Given the description of an element on the screen output the (x, y) to click on. 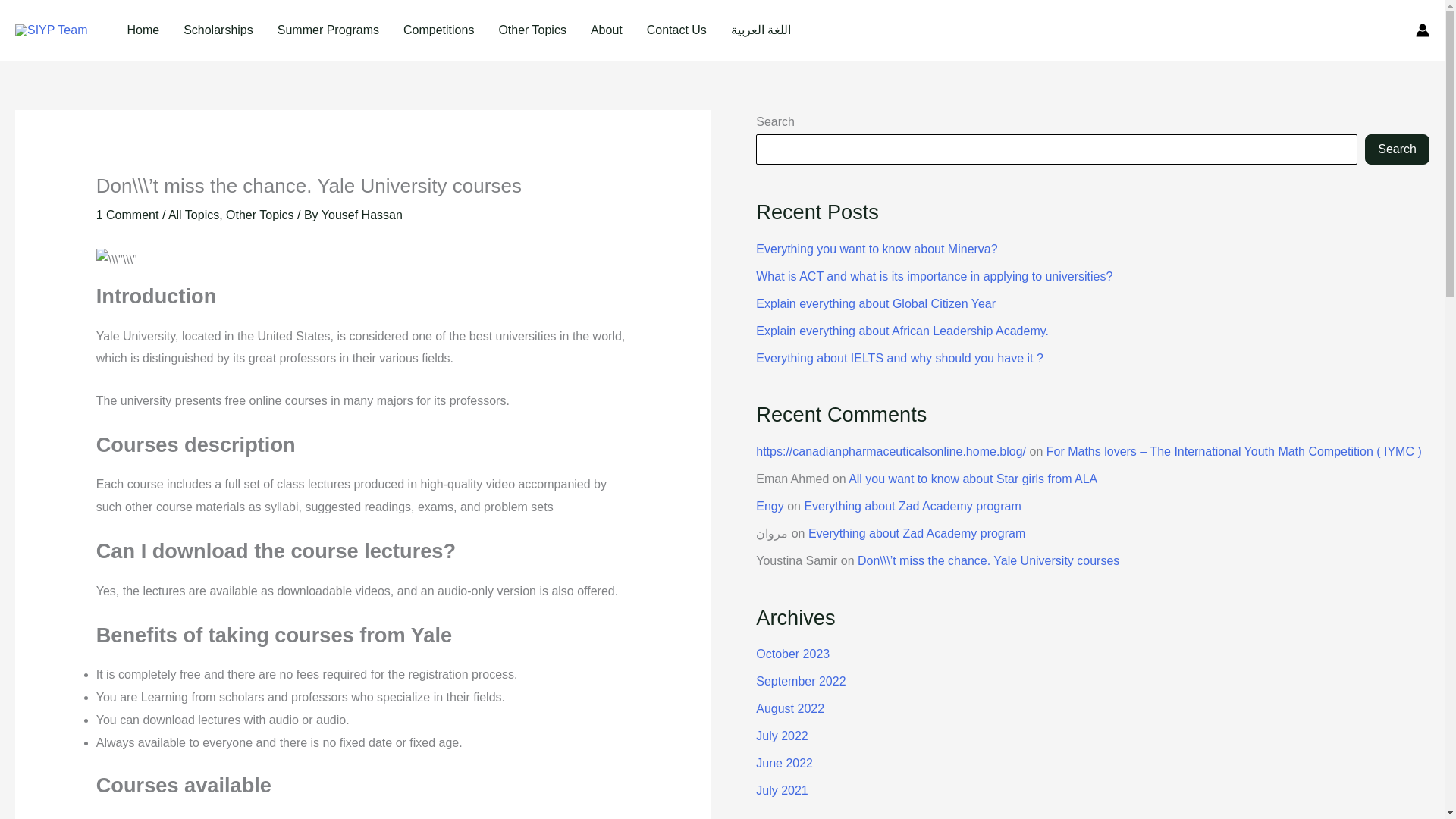
View all posts by Yousef Hassan (362, 214)
Summer Programs (327, 30)
Home (143, 30)
Contact Us (676, 30)
Everything you want to know about Minerva? (876, 248)
1 Comment (127, 214)
Yousef Hassan (362, 214)
Everything about IELTS and why should you have it ? (899, 358)
Other Topics (532, 30)
All Topics (193, 214)
